Given the description of an element on the screen output the (x, y) to click on. 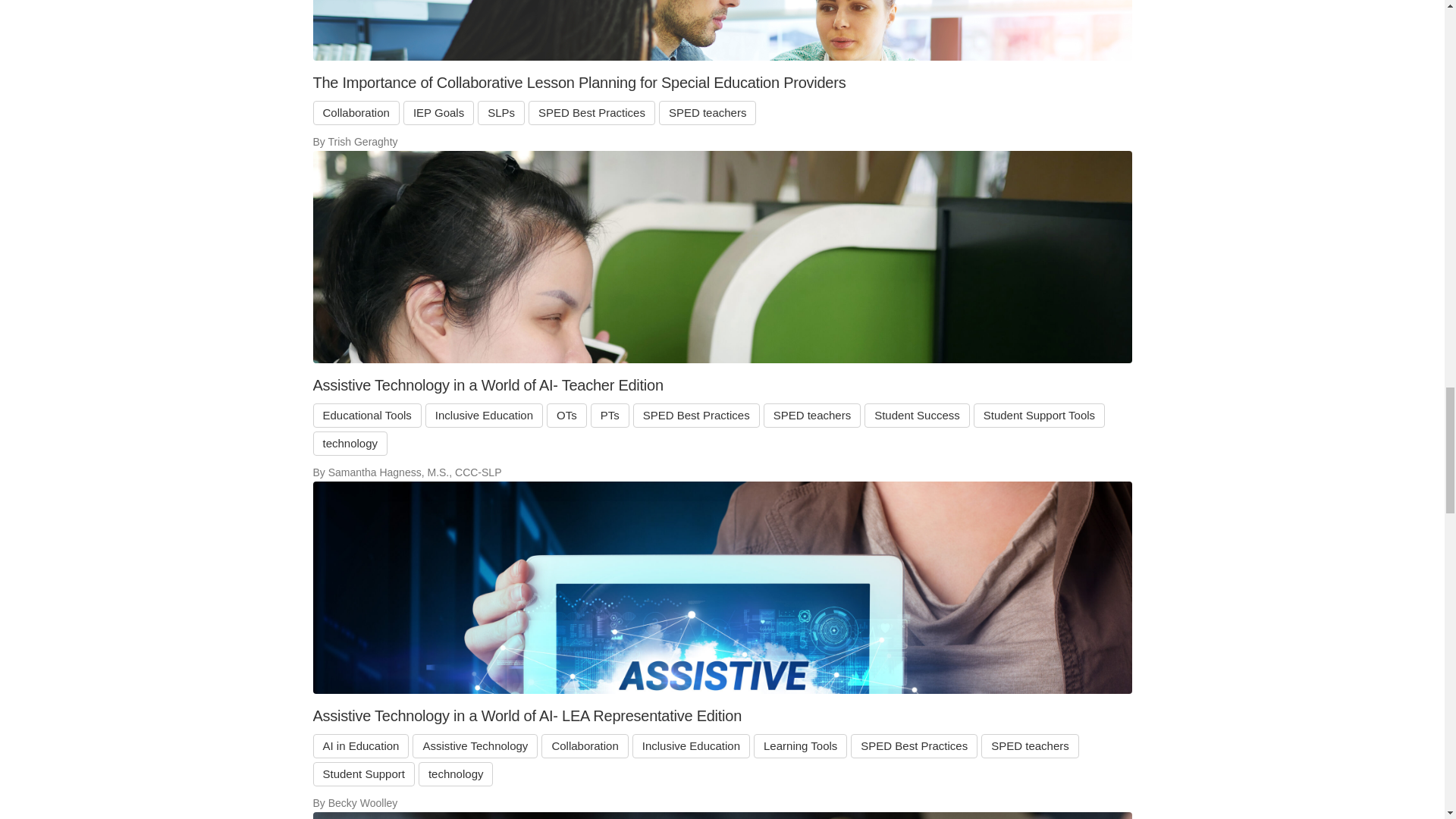
technology (350, 443)
PTs (609, 415)
IEP Goals (438, 112)
SPED teachers (708, 112)
Educational Tools (366, 415)
SPED Best Practices (696, 415)
SPED Best Practices (591, 112)
SLPs (500, 112)
Student Support Tools (1039, 415)
Collaboration (355, 112)
SPED teachers (811, 415)
Assistive Technology in a World of AI- Teacher Edition (722, 384)
OTs (566, 415)
Student Success (916, 415)
